Given the description of an element on the screen output the (x, y) to click on. 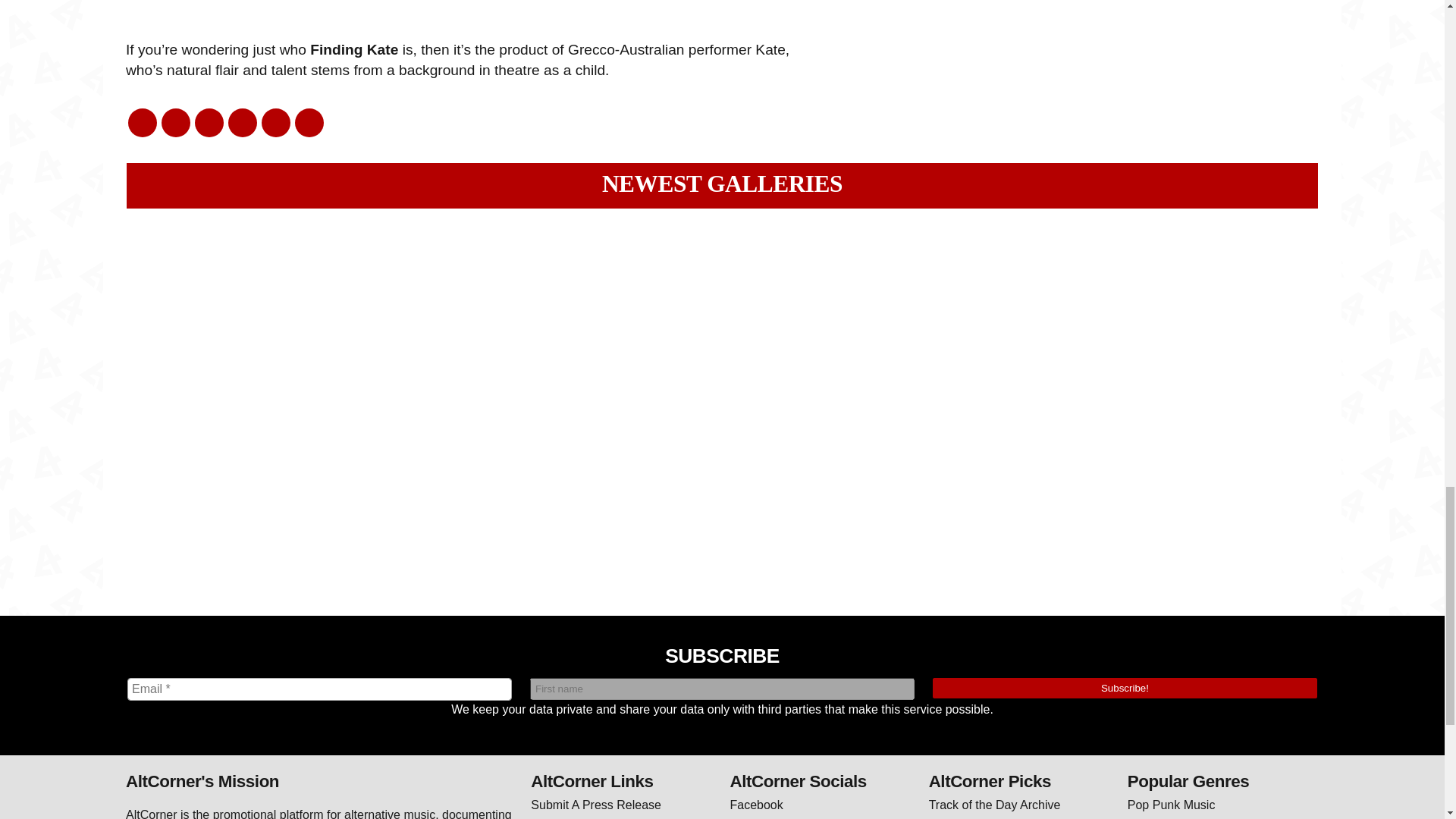
First name (721, 689)
Subscribe! (1125, 688)
Email (320, 689)
